Given the description of an element on the screen output the (x, y) to click on. 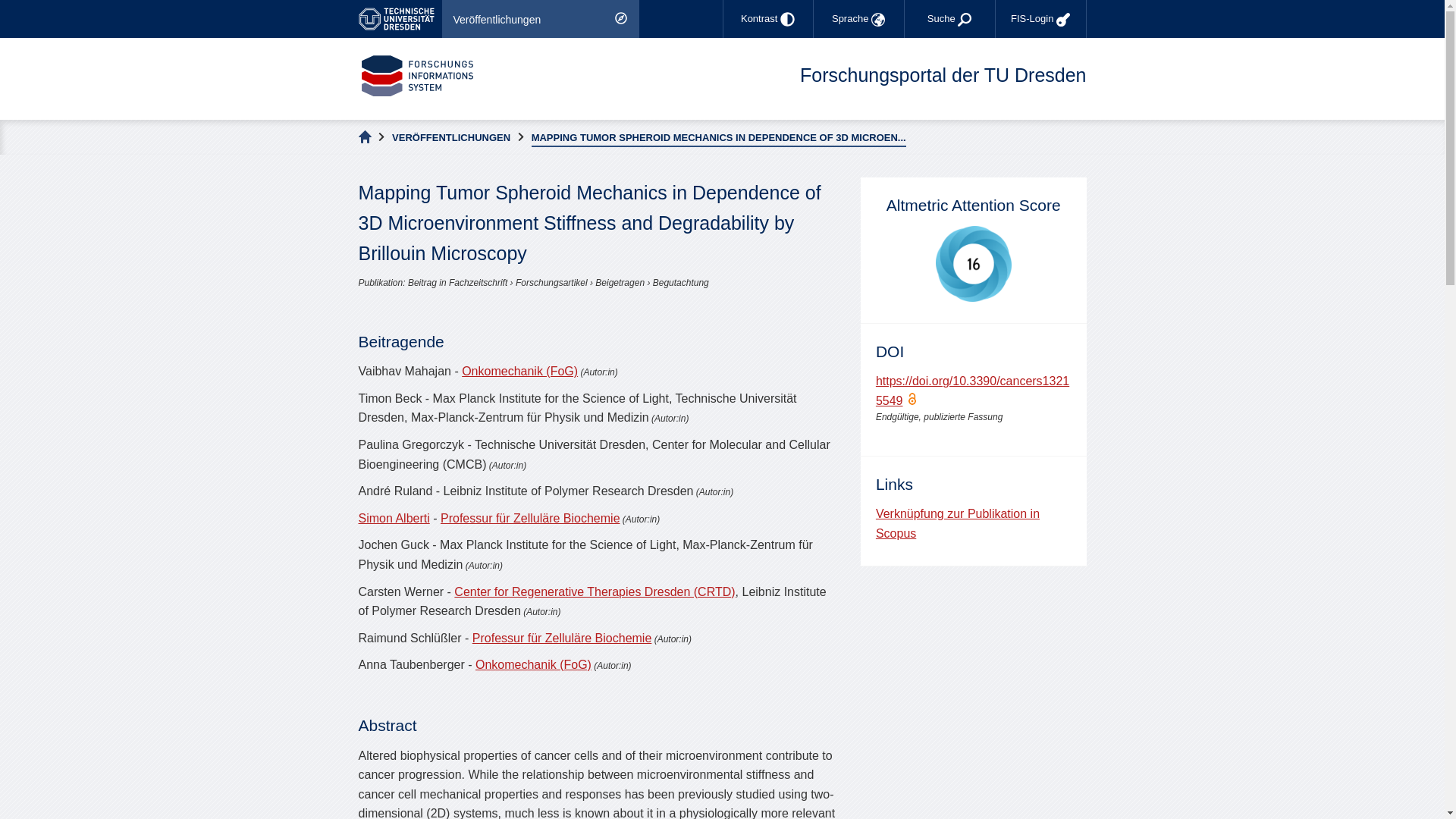
Kontrast (767, 18)
Sprache (858, 18)
FIS-Login (1040, 18)
Globale Suche umschalten (949, 18)
, Externer Link (399, 18)
Suche (949, 18)
Simon Alberti (393, 517)
Sprachauswahl umschalten (858, 18)
